Given the description of an element on the screen output the (x, y) to click on. 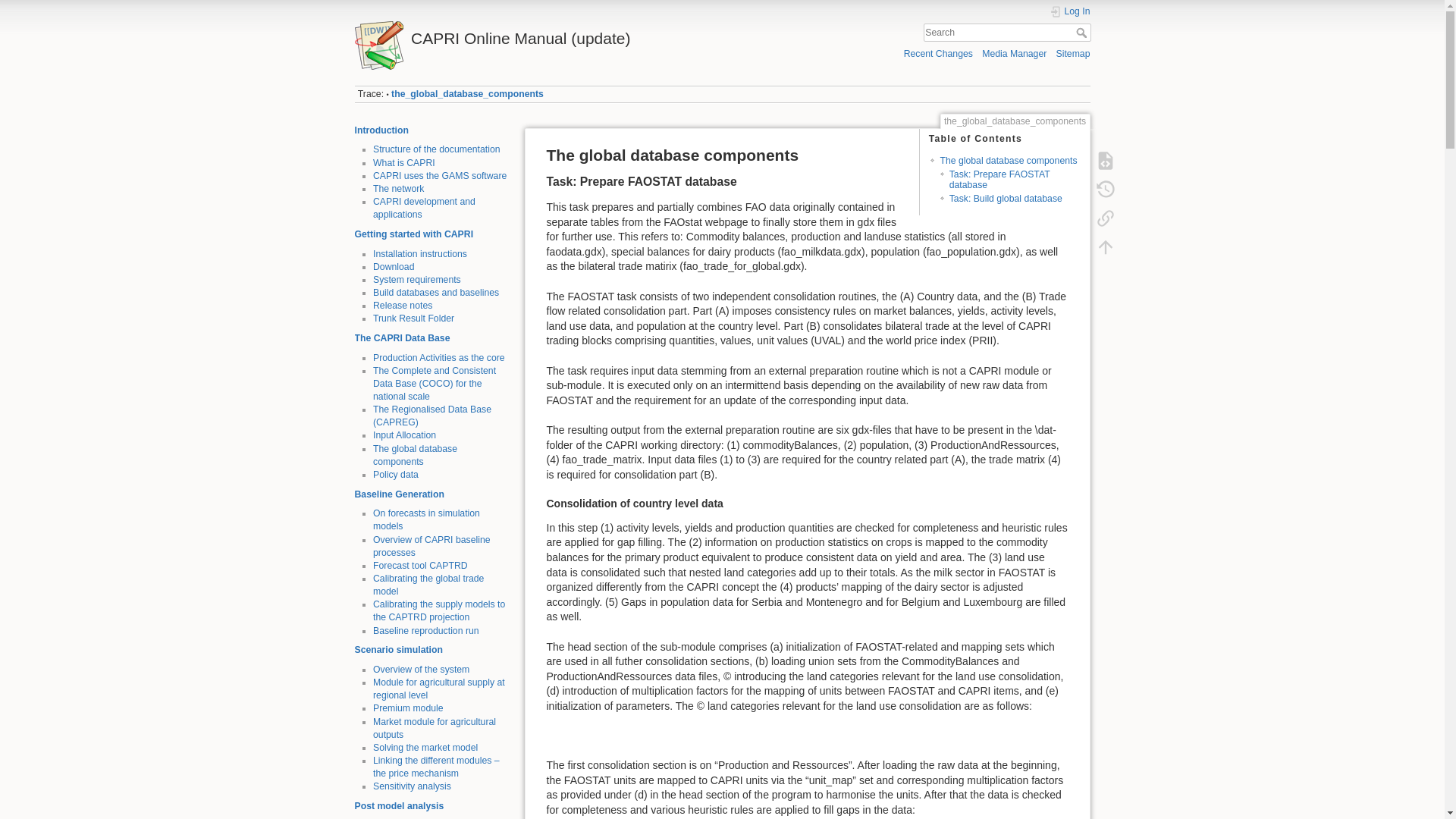
Download (392, 266)
Scenario simulation (398, 649)
Calibrating the supply models to the CAPTRD projection (438, 610)
introduction (397, 188)
Policy data (395, 474)
introduction (382, 130)
The global database components (414, 454)
Log In (1069, 11)
Media Manager (1013, 53)
Build databases and baselines (435, 292)
Premium module (408, 707)
Log In (1069, 11)
Release notes (402, 305)
Forecast tool CAPTRD (419, 565)
Input Allocation (403, 434)
